Given the description of an element on the screen output the (x, y) to click on. 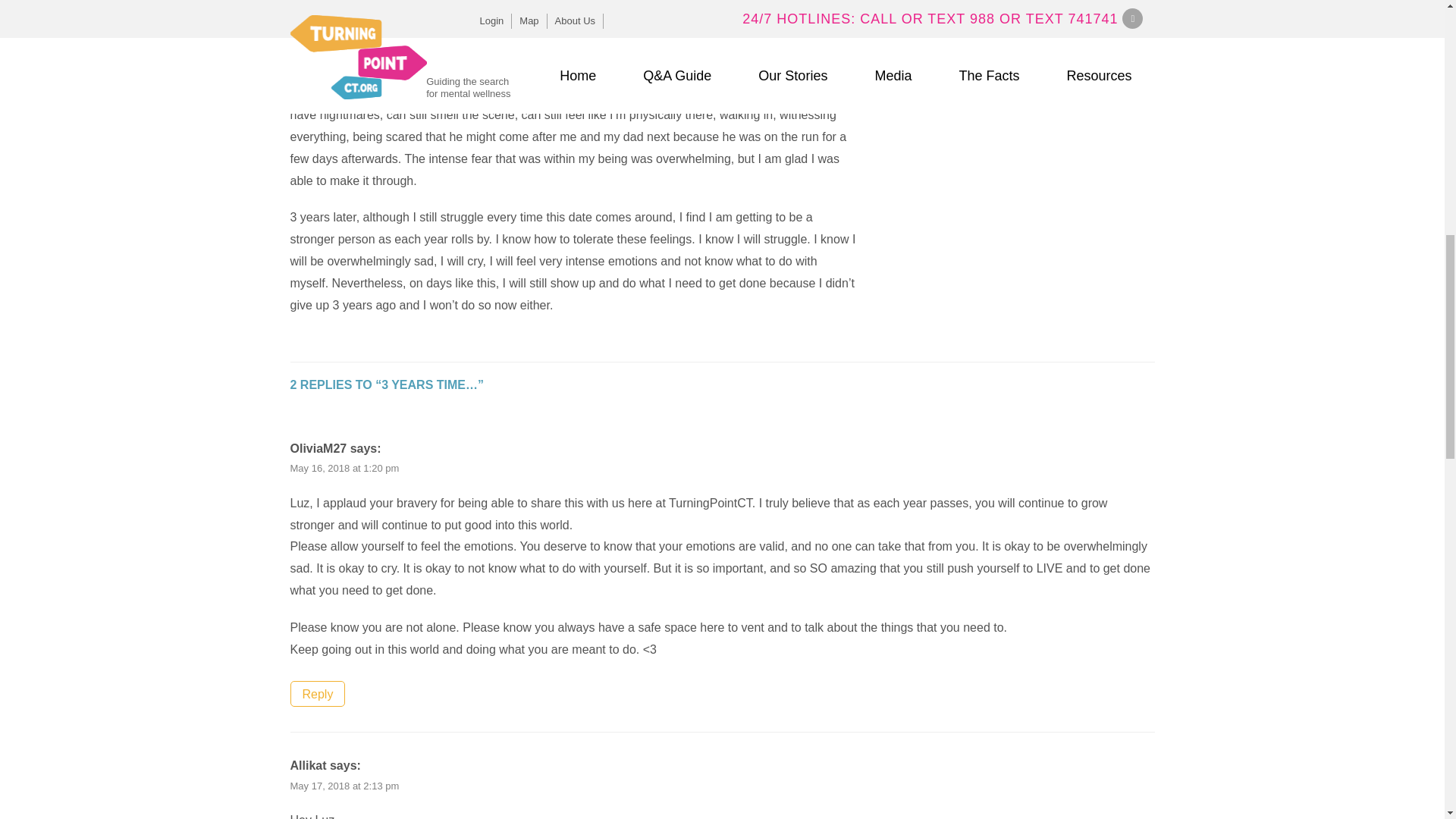
May 16, 2018 at 1:20 pm (343, 468)
May 17, 2018 at 2:13 pm (343, 785)
Reply (317, 693)
